Given the description of an element on the screen output the (x, y) to click on. 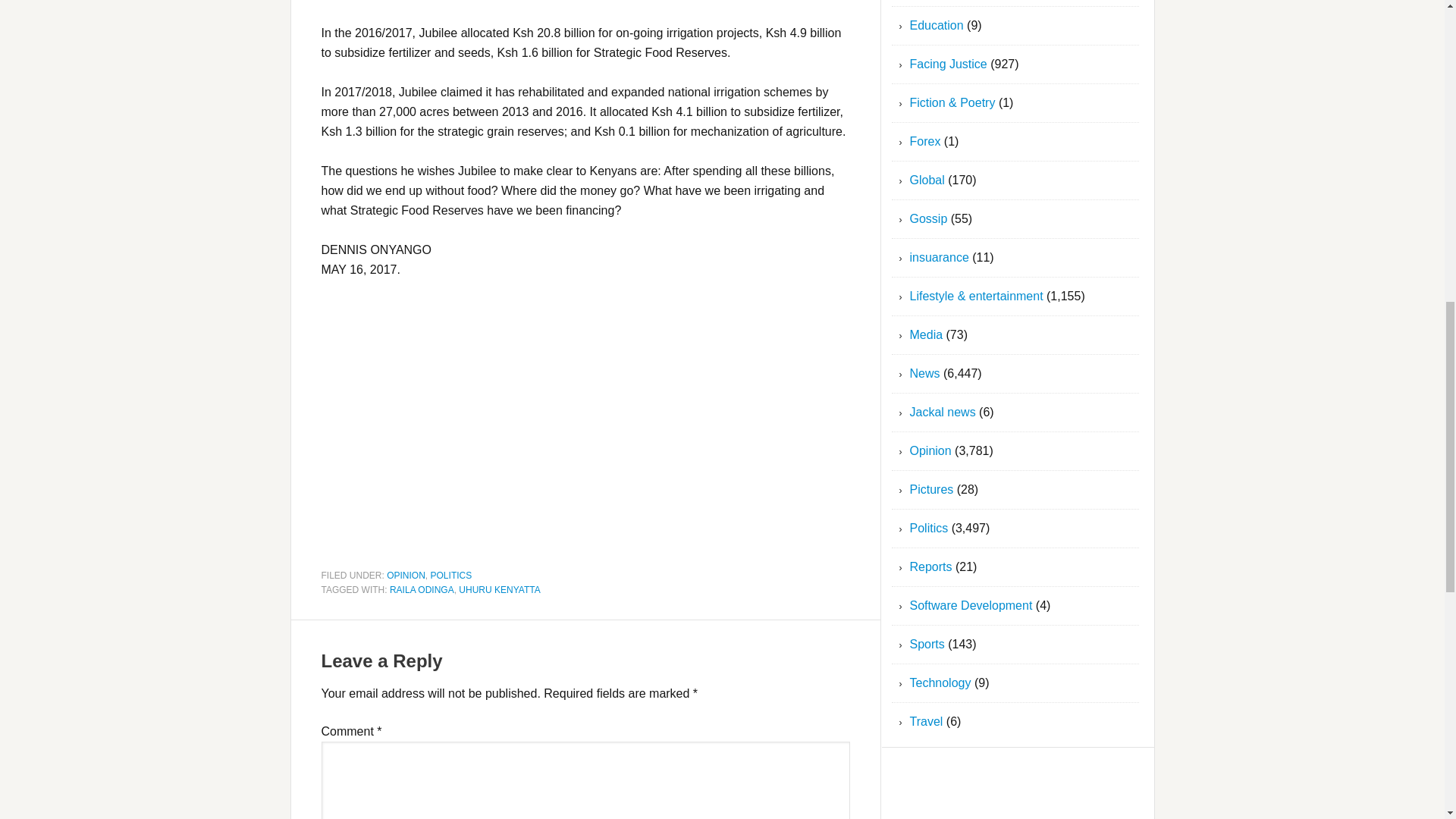
Education (936, 24)
OPINION (406, 575)
Opinion (931, 450)
Forex (925, 141)
Gossip (928, 218)
POLITICS (450, 575)
UHURU KENYATTA (499, 589)
Jackal news (942, 411)
RAILA ODINGA (422, 589)
Global (927, 179)
News (925, 373)
Media (926, 334)
insuarance (939, 256)
Facing Justice (948, 63)
